Given the description of an element on the screen output the (x, y) to click on. 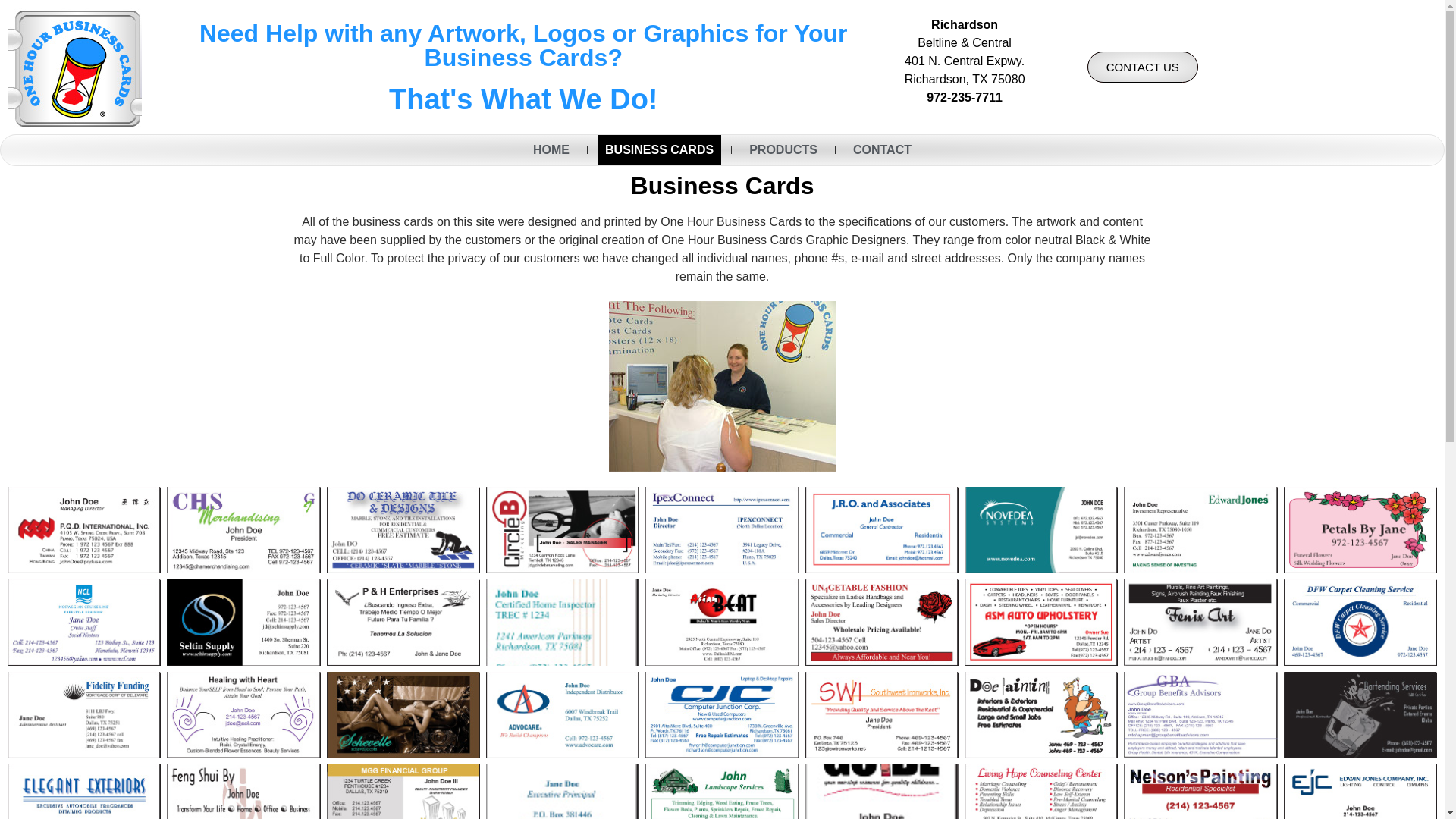
BUSINESS CARDS (658, 150)
CONTACT (881, 150)
HOME (550, 150)
CONTACT US (1142, 66)
PRODUCTS (783, 150)
